Given the description of an element on the screen output the (x, y) to click on. 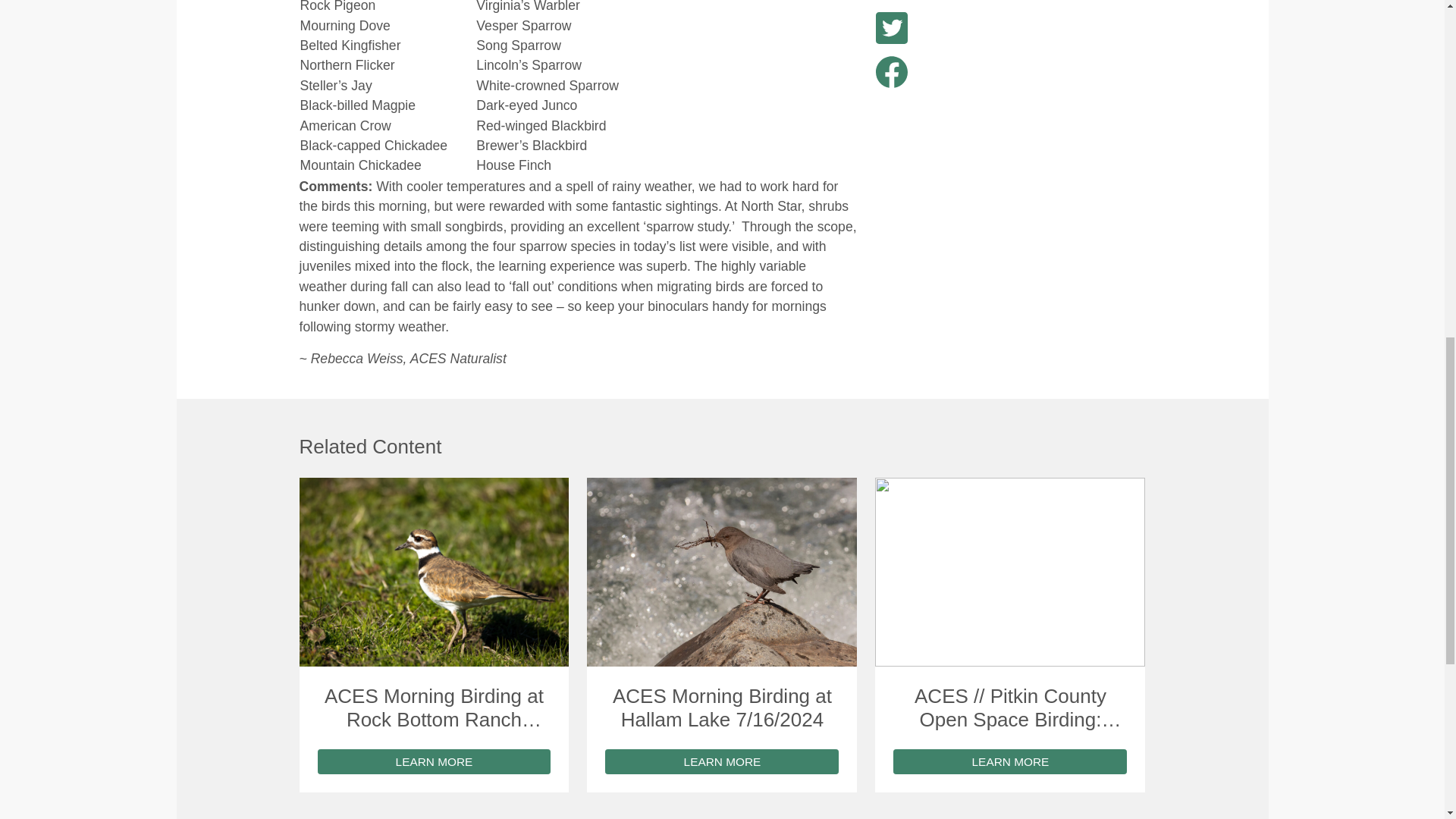
killdeer (433, 571)
american dipper-1 (721, 571)
